Given the description of an element on the screen output the (x, y) to click on. 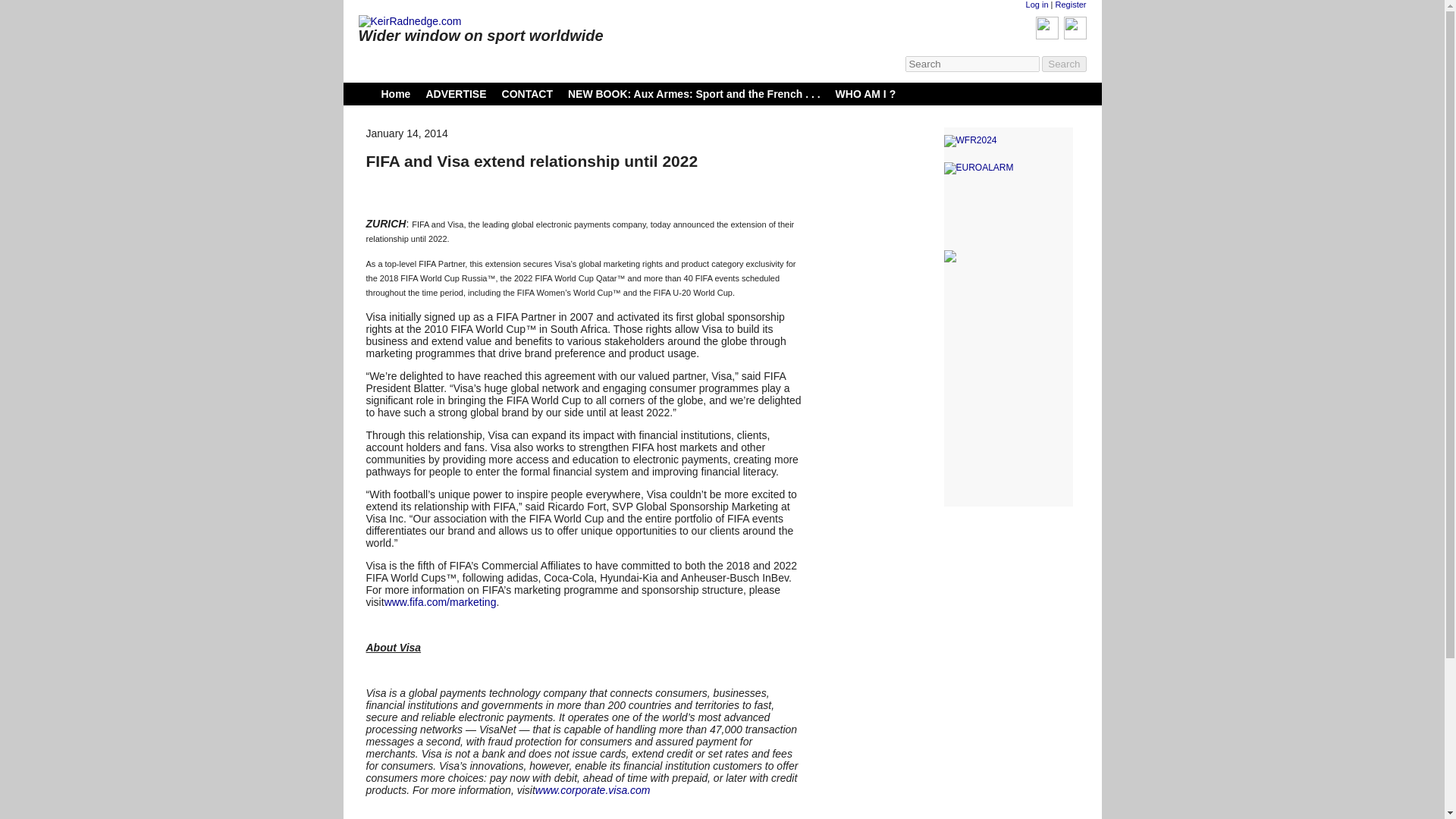
ADVERTISE (455, 93)
NEW BOOK: Aux Armes: Sport and the French . . . (694, 93)
EUROALARM (1007, 168)
WHO AM I ? (865, 93)
Register (1070, 4)
Search (1064, 64)
Log in (1037, 4)
Home (395, 93)
Search (1064, 64)
CONTACT (527, 93)
